Given the description of an element on the screen output the (x, y) to click on. 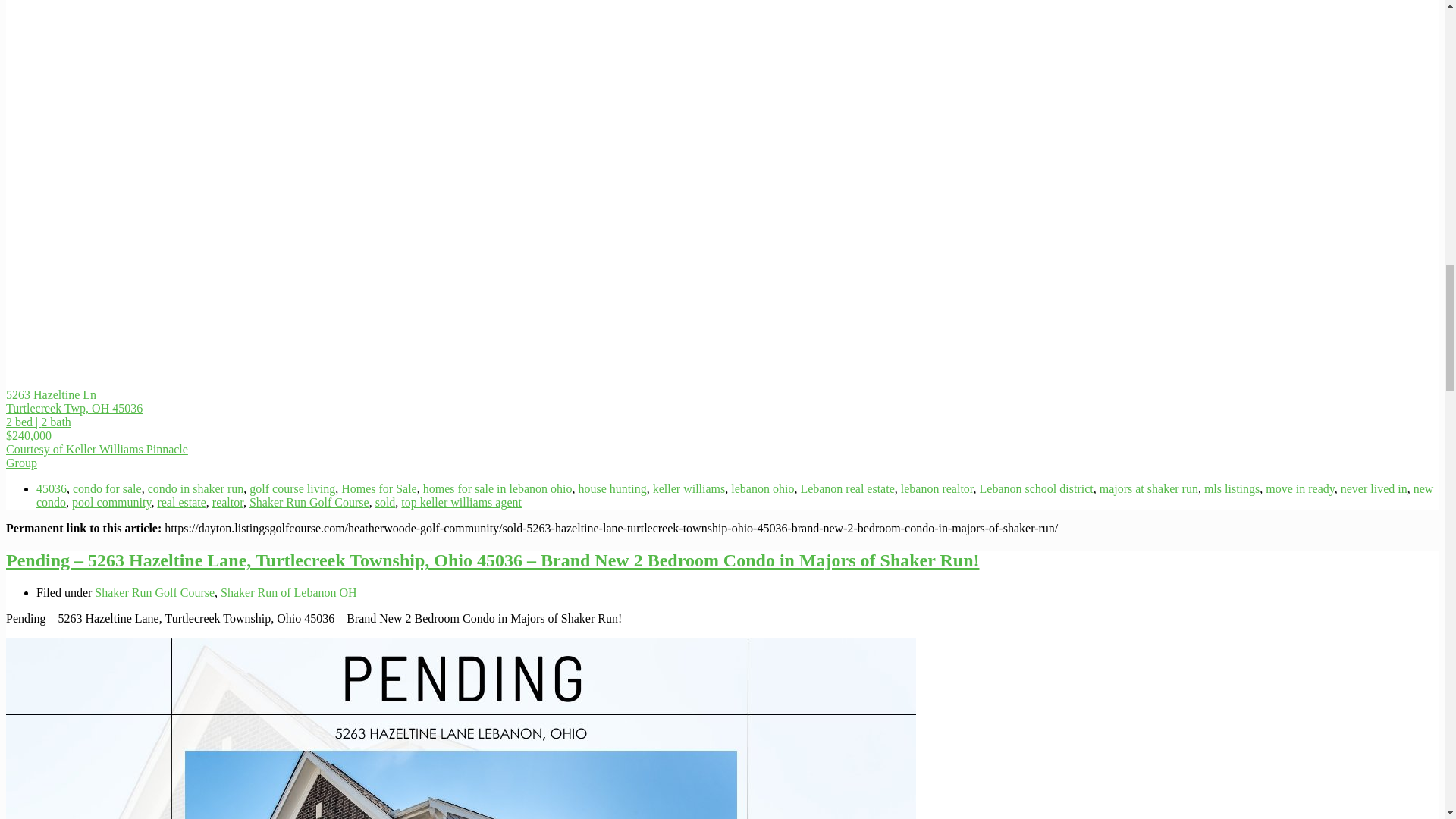
lebanon realtor (937, 488)
Lebanon real estate (846, 488)
45036 (51, 488)
keller williams (688, 488)
golf course living (291, 488)
condo in shaker run (196, 488)
move in ready (1299, 488)
homes for sale in lebanon ohio (497, 488)
house hunting (612, 488)
lebanon ohio (761, 488)
Lebanon school district (1036, 488)
mls listings (1231, 488)
majors at shaker run (1148, 488)
condo for sale (106, 488)
Homes for Sale (378, 488)
